Given the description of an element on the screen output the (x, y) to click on. 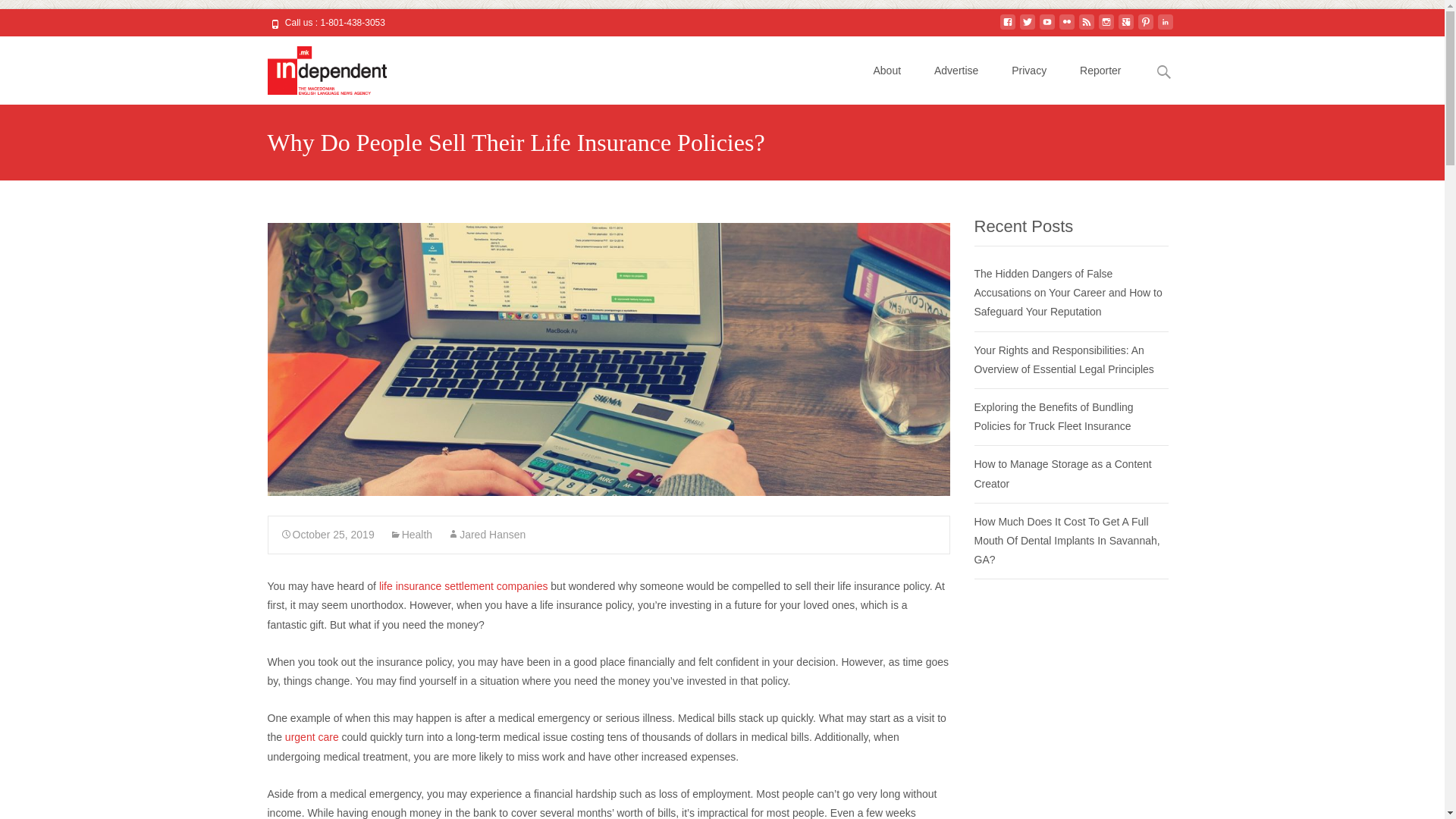
Jared Hansen (485, 534)
Reporter (1099, 70)
youtube (1046, 28)
pinterest (1145, 28)
flickr (1066, 28)
facebook (1006, 28)
instagram (1105, 28)
Advertise (955, 70)
feed (1085, 28)
Search for: (1163, 72)
